Given the description of an element on the screen output the (x, y) to click on. 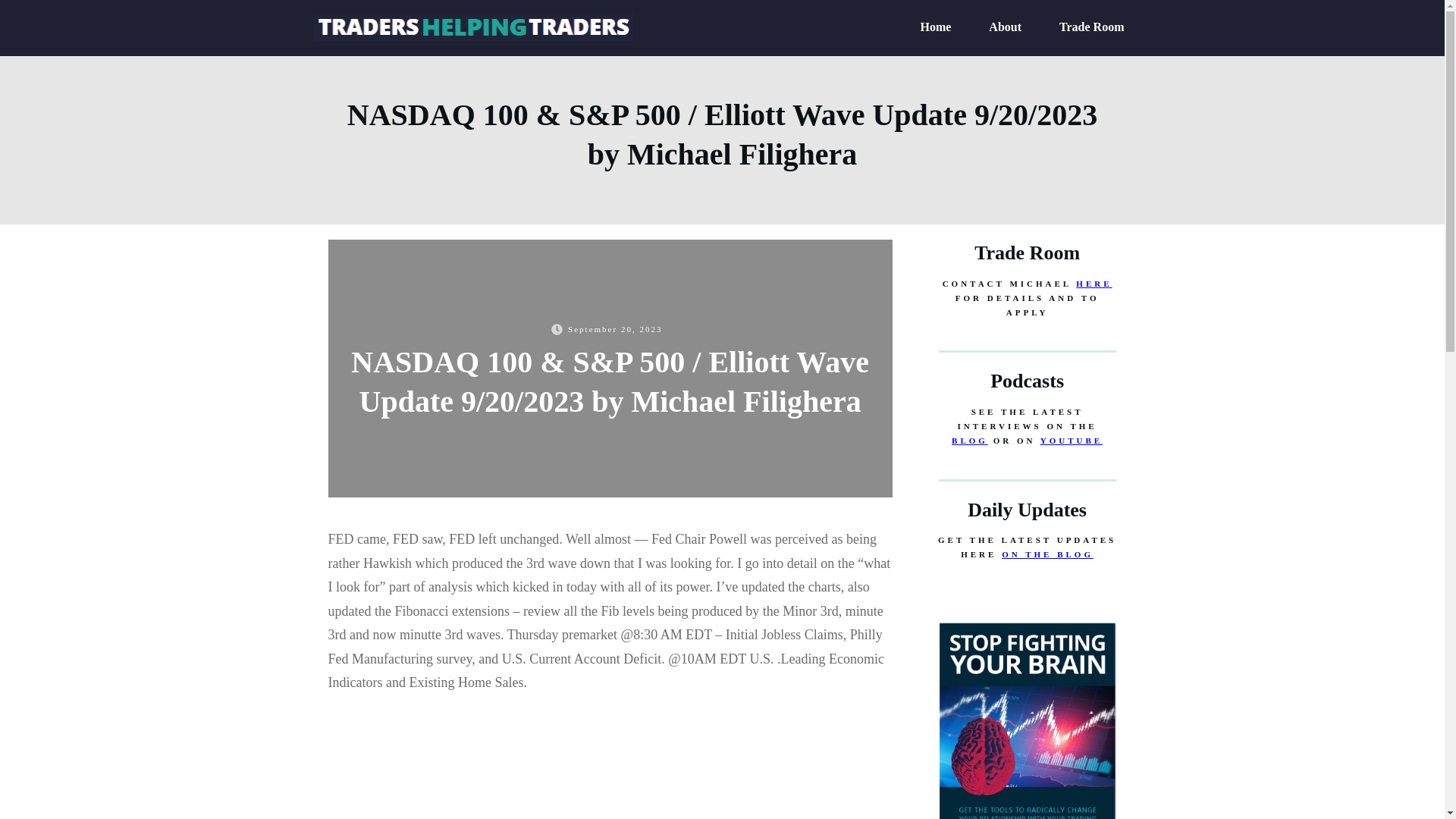
BLOG (970, 440)
ON THE BLOG (1047, 553)
Trade Room (1091, 27)
About (1005, 27)
Home (935, 27)
YOUTUBE (1071, 440)
HERE (1093, 283)
